Given the description of an element on the screen output the (x, y) to click on. 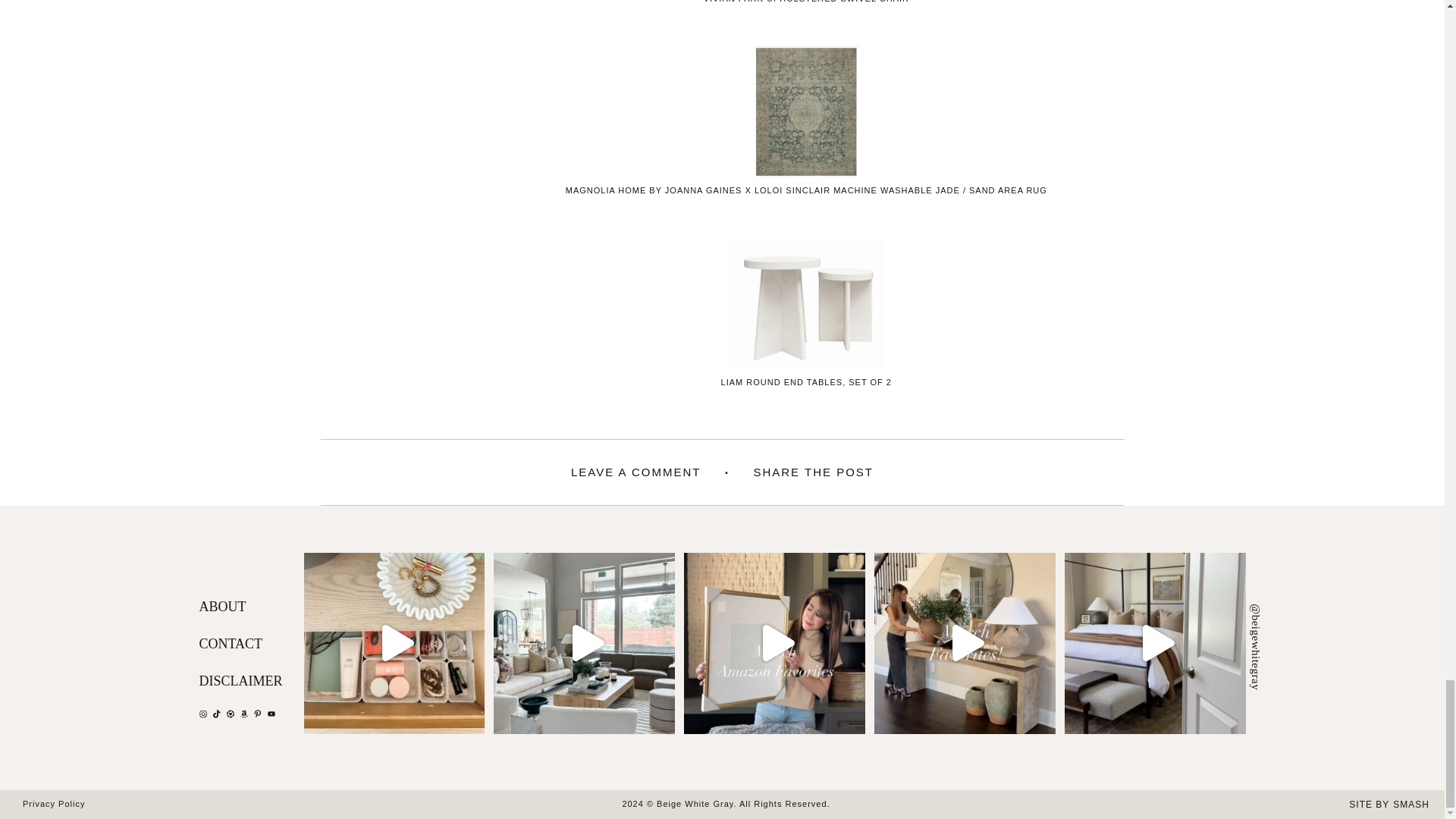
LEAVE A COMMENT (635, 472)
